Given the description of an element on the screen output the (x, y) to click on. 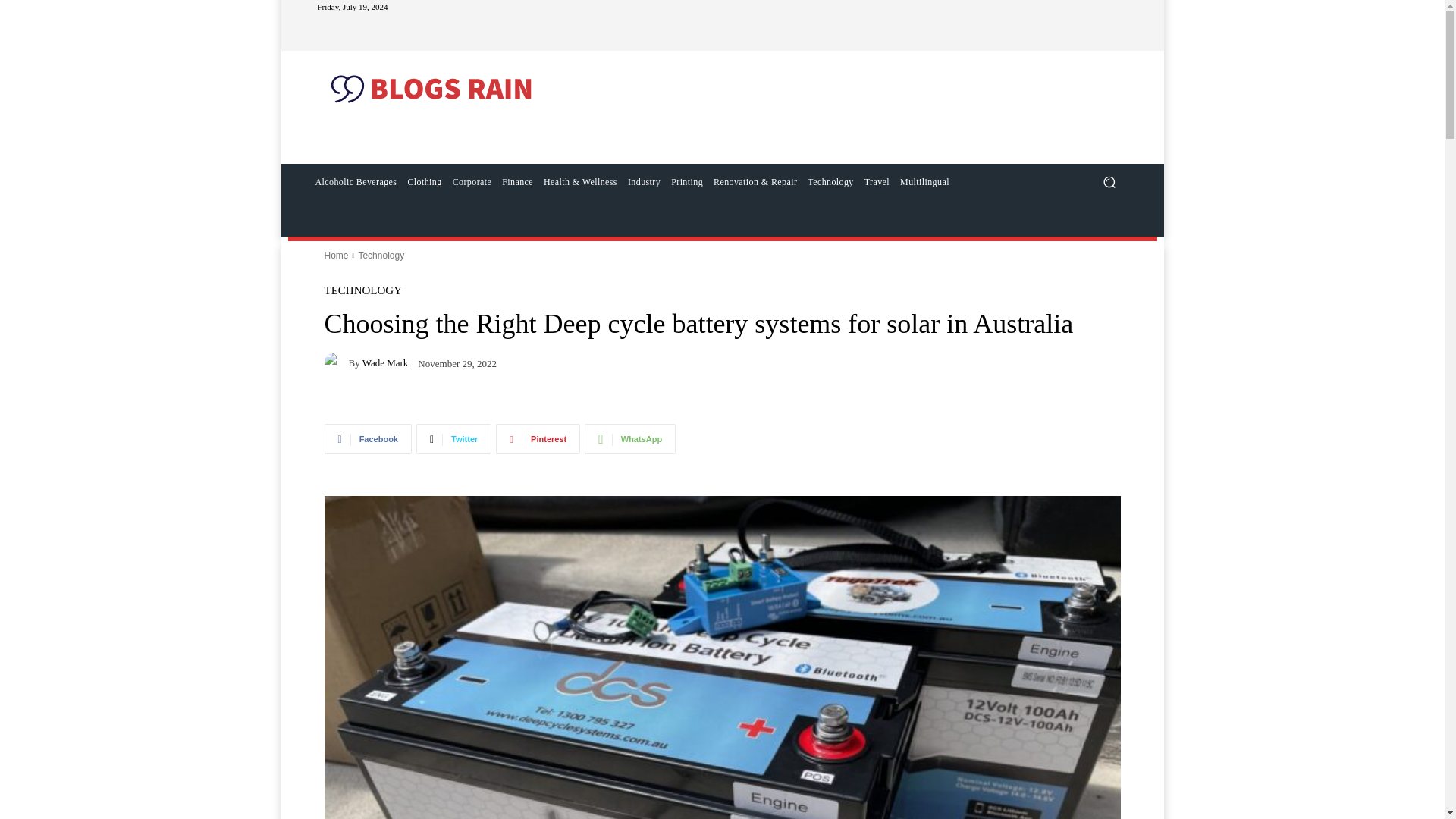
View all posts in Technology (381, 255)
Clothing (423, 181)
Pinterest (537, 439)
Corporate (471, 181)
Finance (517, 181)
Multilingual (925, 181)
Industry (644, 181)
WhatsApp (630, 439)
Travel (877, 181)
Technology (830, 181)
Wade Mark (336, 362)
Printing (686, 181)
Facebook (368, 439)
Twitter (454, 439)
